Given the description of an element on the screen output the (x, y) to click on. 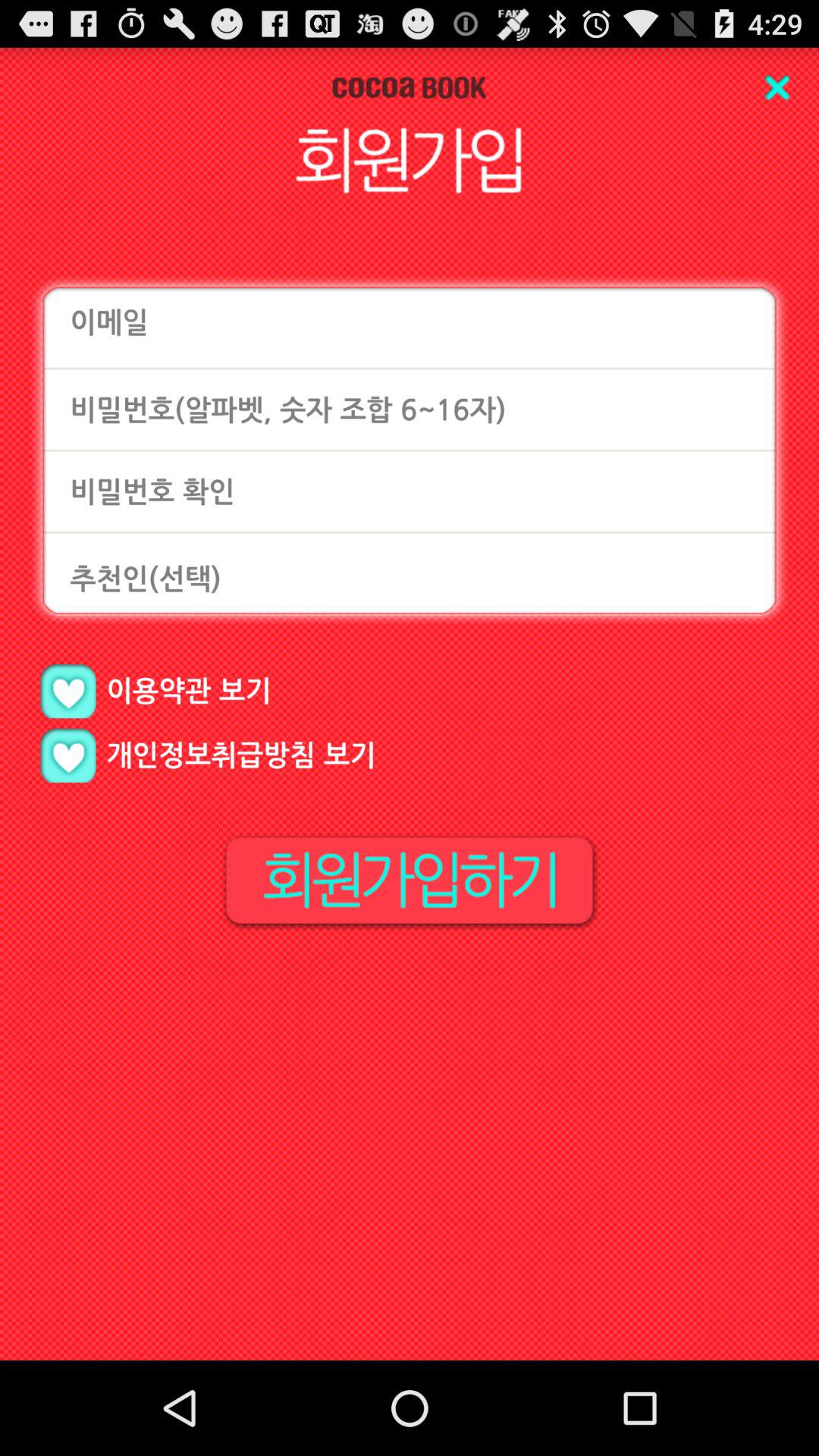
like page (68, 691)
